Given the description of an element on the screen output the (x, y) to click on. 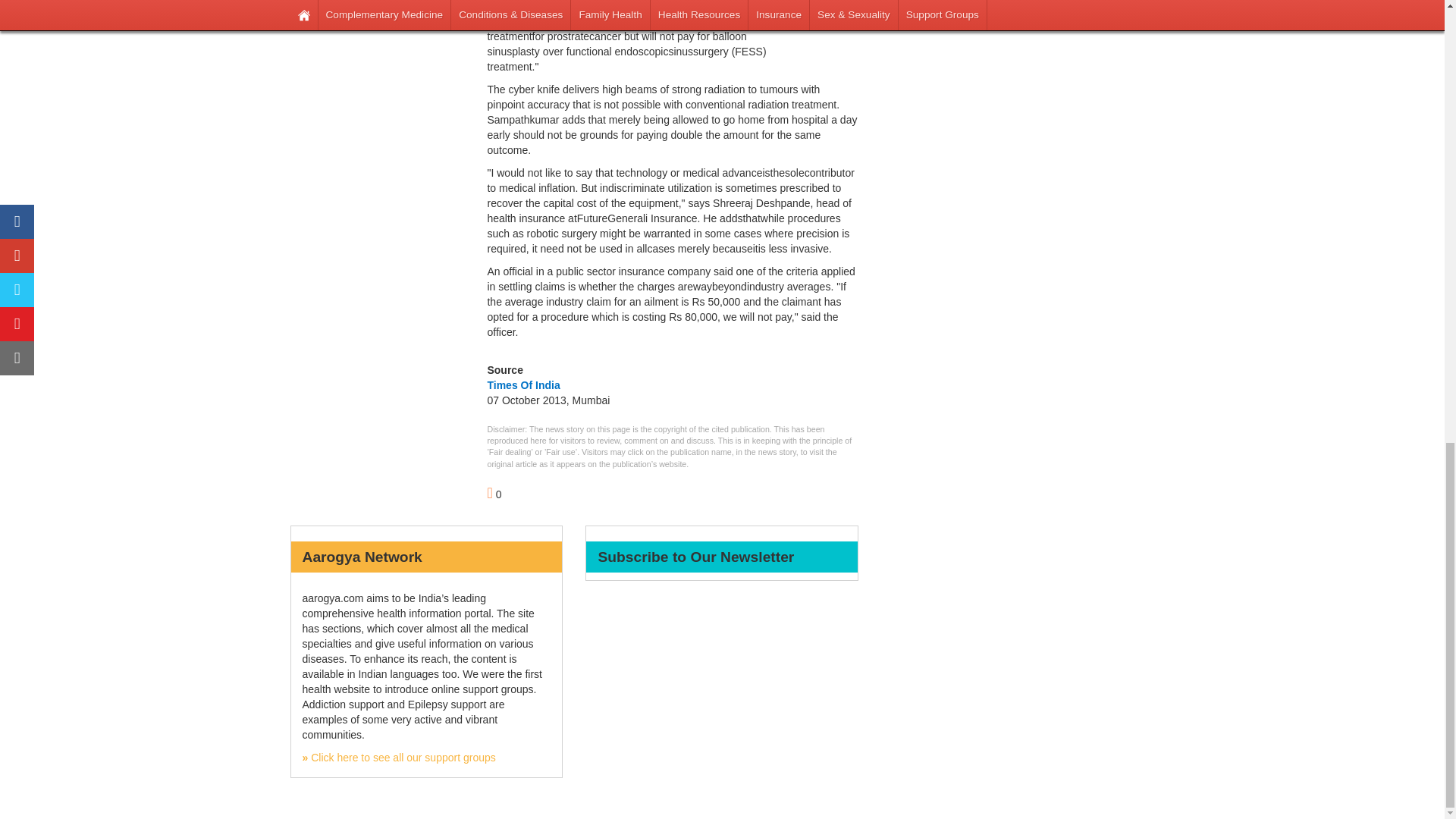
Aarogya Network (398, 757)
Aarogya news (821, 23)
